Given the description of an element on the screen output the (x, y) to click on. 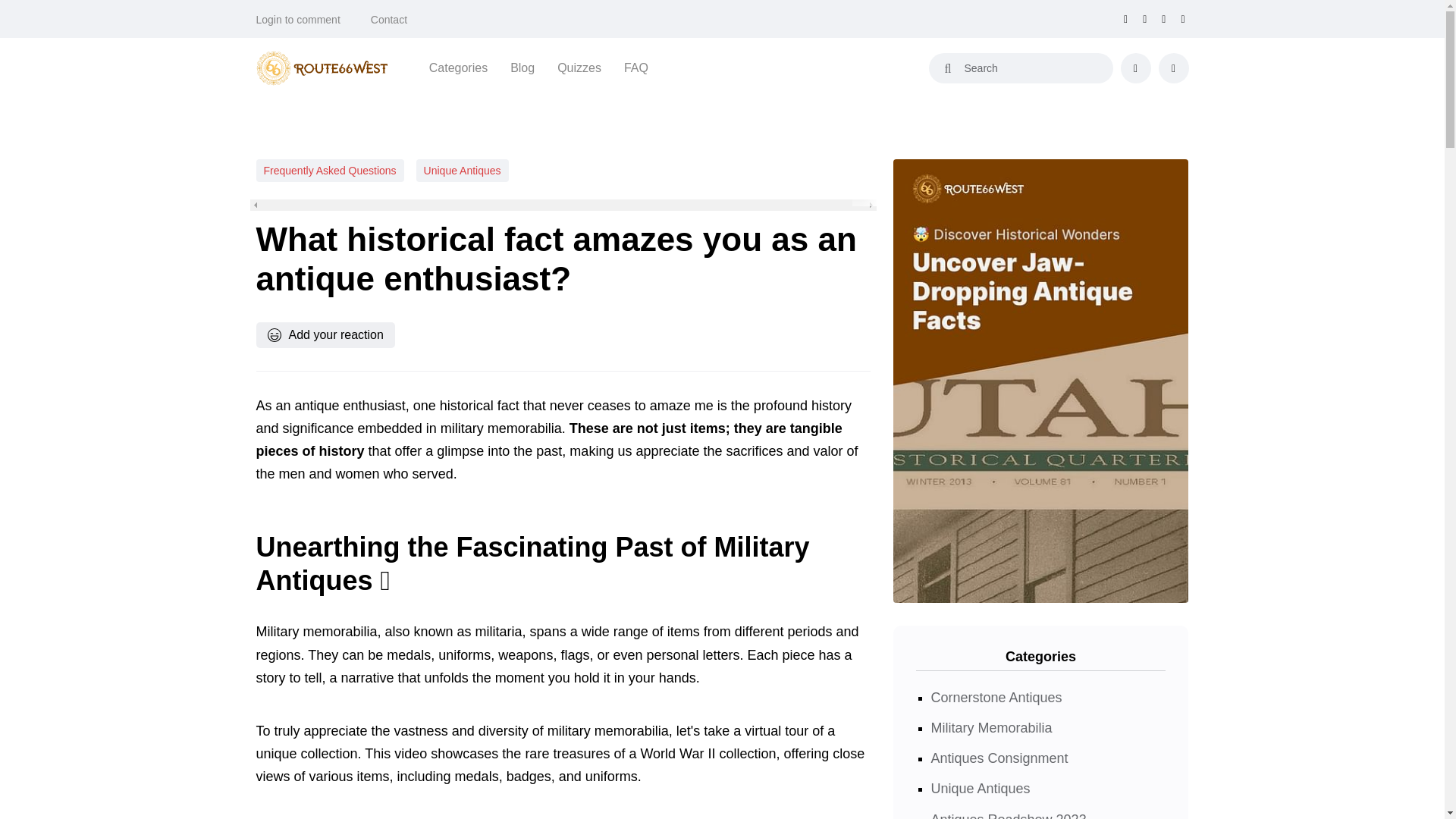
Contact (389, 19)
Categories (458, 67)
Login to comment (298, 19)
